Given the description of an element on the screen output the (x, y) to click on. 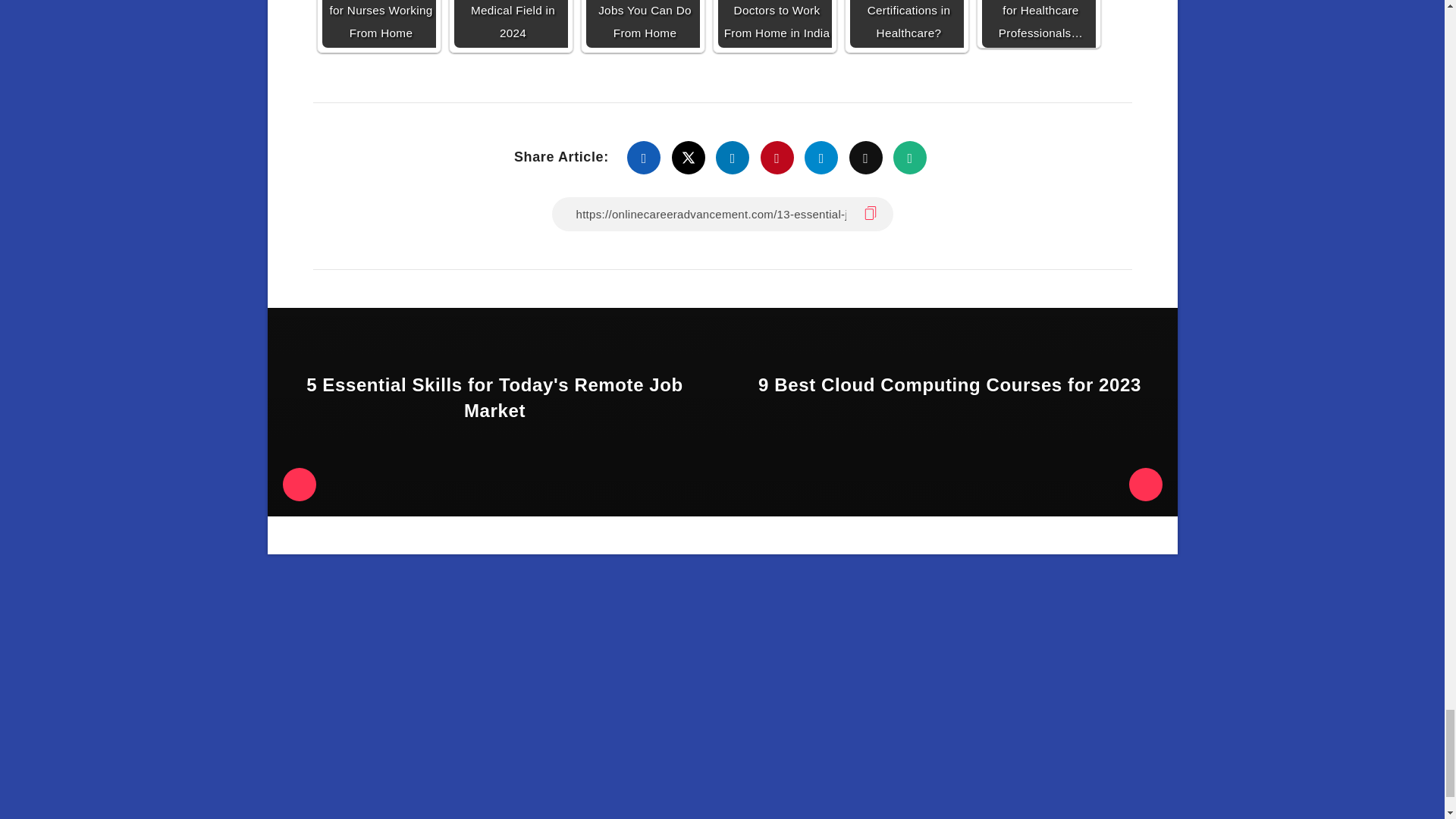
10 Online Jobs for Doctors to Work From Home in India (774, 23)
7 Top Online Jobs for Nurses Working From Home (378, 23)
Why Pursue AI Certifications in Healthcare? (905, 23)
7 Top Online Jobs Related to the Medical Field in 2024 (509, 23)
10 Online Medical Jobs You Can Do From Home (641, 23)
